Given the description of an element on the screen output the (x, y) to click on. 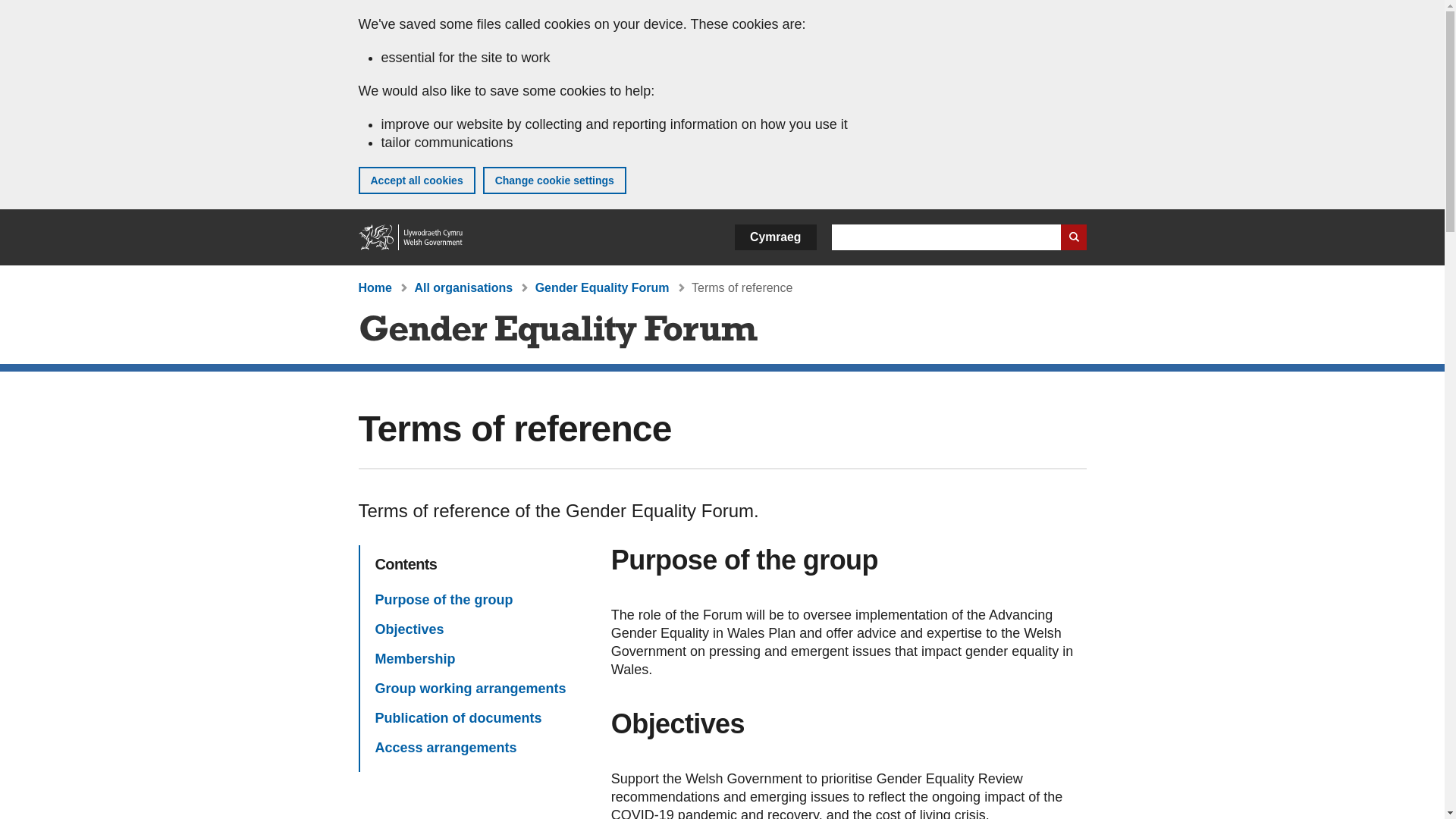
Group working arrangements (470, 688)
Accept all cookies (416, 180)
All organisations (462, 287)
Access arrangements (445, 747)
Skip to main content (22, 11)
Purpose of the group (443, 599)
Objectives (409, 628)
Membership (414, 659)
Terms of reference (741, 287)
Search website (1072, 237)
